Given the description of an element on the screen output the (x, y) to click on. 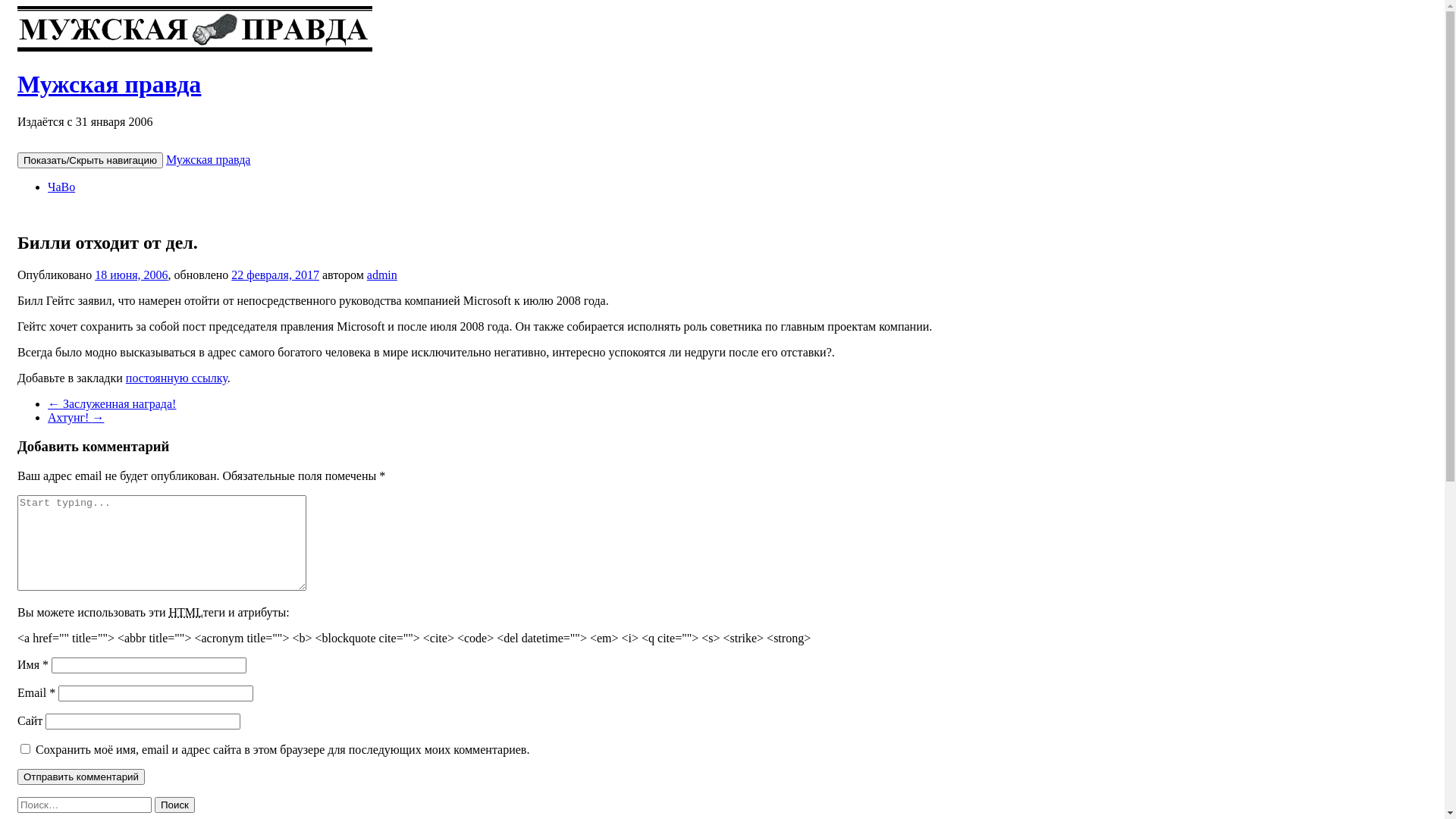
admin Element type: text (382, 274)
